Given the description of an element on the screen output the (x, y) to click on. 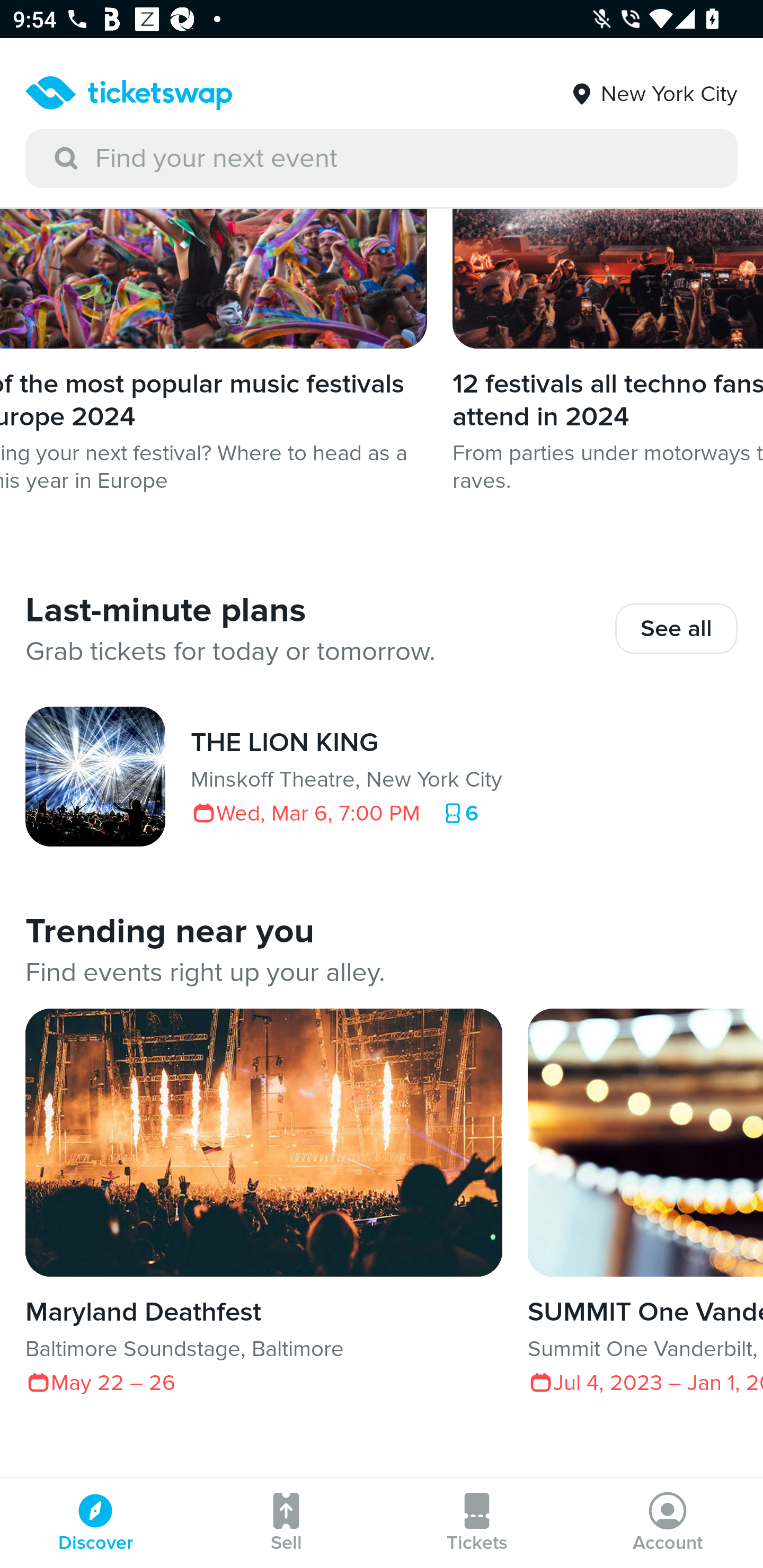
New York City (653, 87)
Find your next event (381, 158)
See all (675, 628)
Sell (285, 1523)
Tickets (476, 1523)
Account (667, 1523)
